Given the description of an element on the screen output the (x, y) to click on. 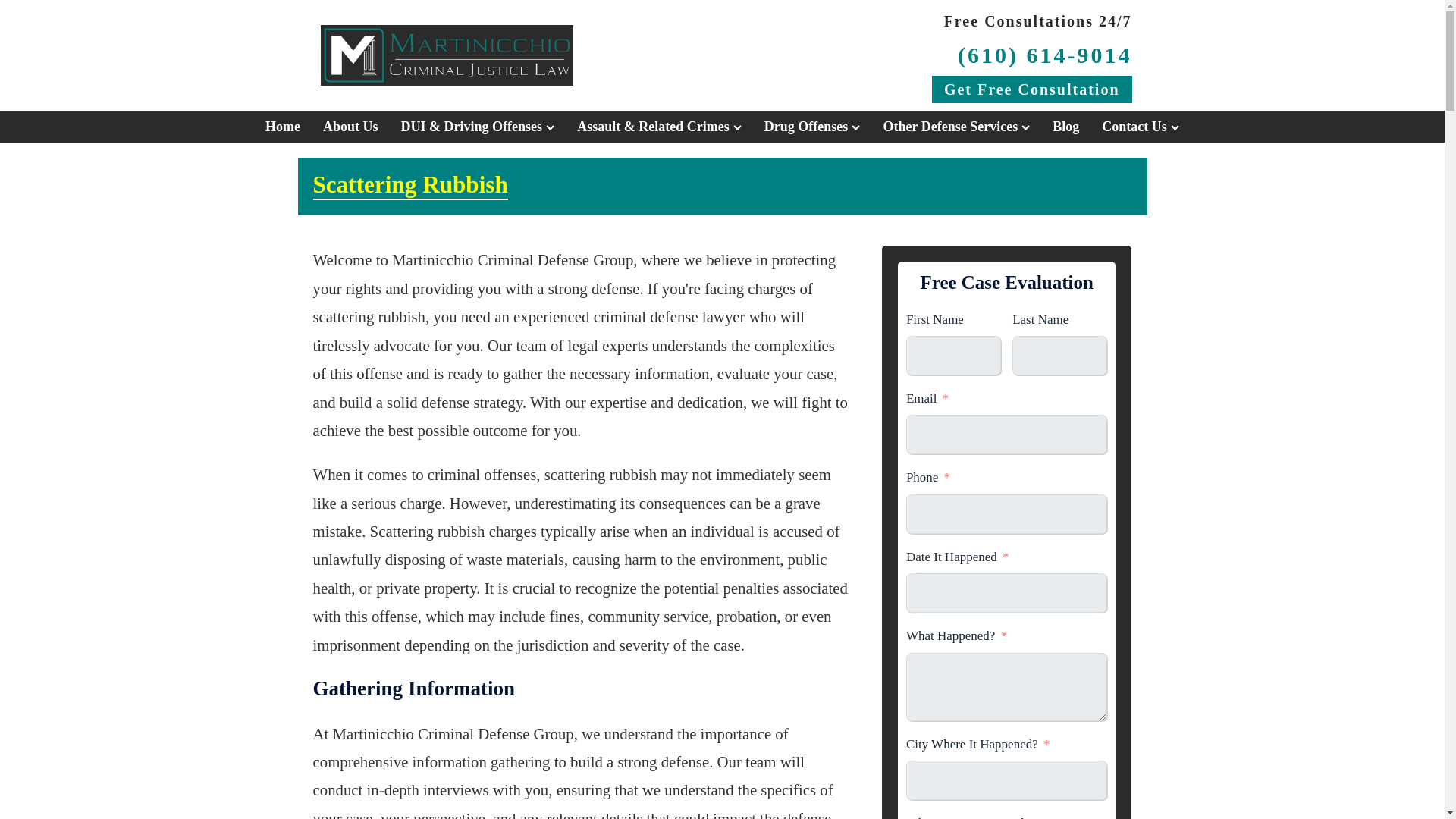
About Us (349, 126)
Home (283, 126)
Drug Offenses (812, 126)
Other Defense Services (956, 126)
